Given the description of an element on the screen output the (x, y) to click on. 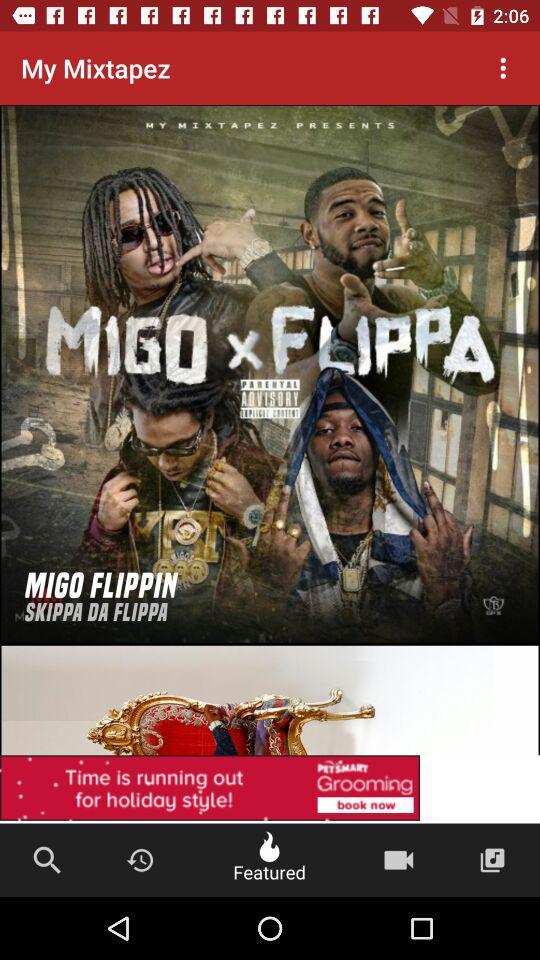
click on the button beside clock symbol (269, 859)
click on the button beside the search icon at the bottom of the page (140, 859)
click on search icon (46, 859)
click on music album icon (492, 859)
